Given the description of an element on the screen output the (x, y) to click on. 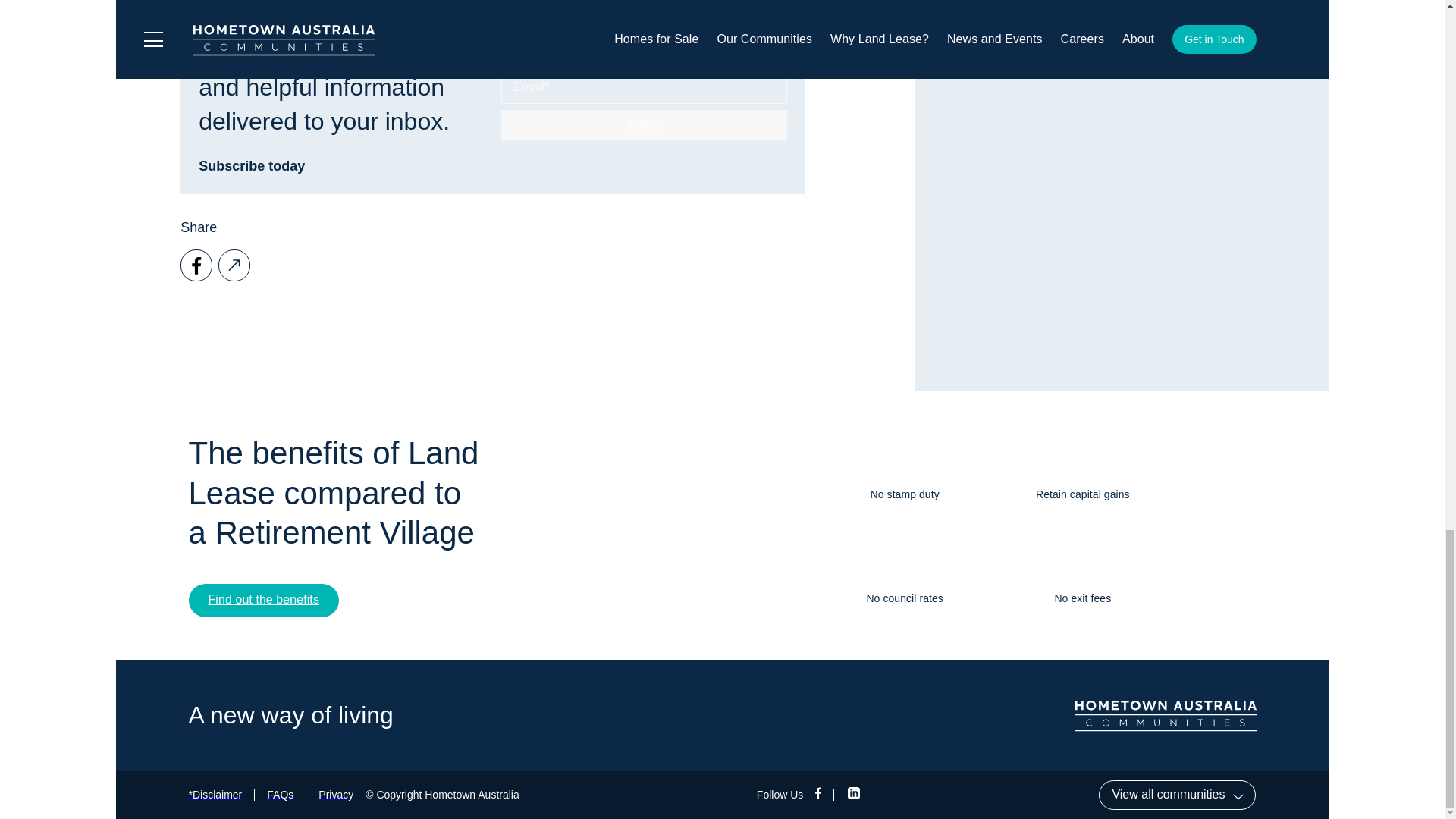
Find out the benefits (262, 600)
View all communities (1177, 794)
FAQs (280, 794)
Submit (643, 124)
Privacy (335, 794)
Submit (643, 124)
